Given the description of an element on the screen output the (x, y) to click on. 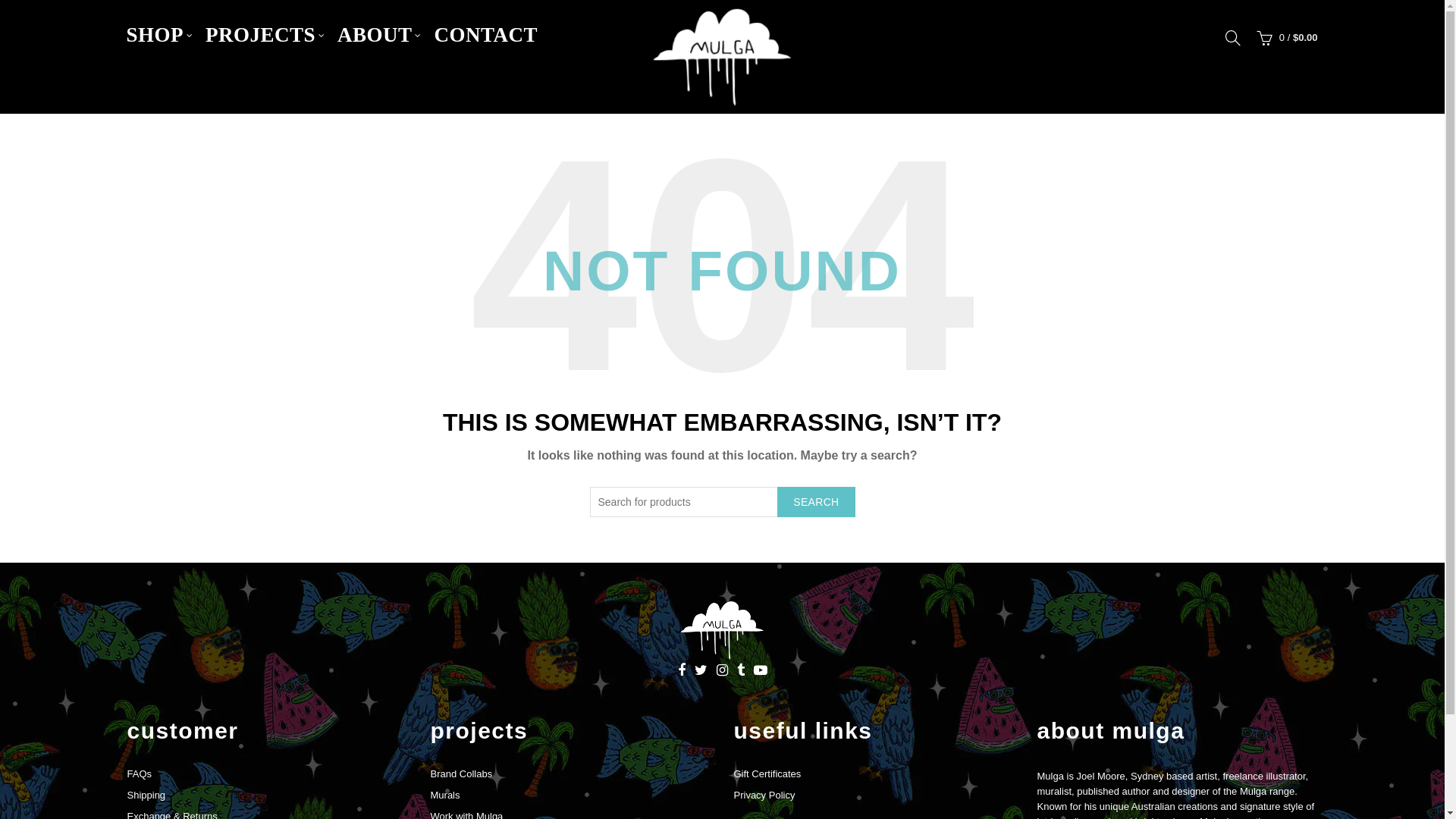
Gift Certificates Element type: text (767, 773)
FAQs Element type: text (139, 773)
Shipping Element type: text (146, 794)
0 / $0.00 Element type: text (1284, 37)
Murals Element type: text (445, 794)
PROJECTS Element type: text (260, 35)
ABOUT Element type: text (374, 35)
Brand Collabs Element type: text (461, 773)
Mulga The Artist Element type: hover (722, 629)
Privacy Policy Element type: text (764, 794)
SHOP Element type: text (155, 35)
SEARCH Element type: text (815, 501)
CONTACT Element type: text (486, 35)
